Given the description of an element on the screen output the (x, y) to click on. 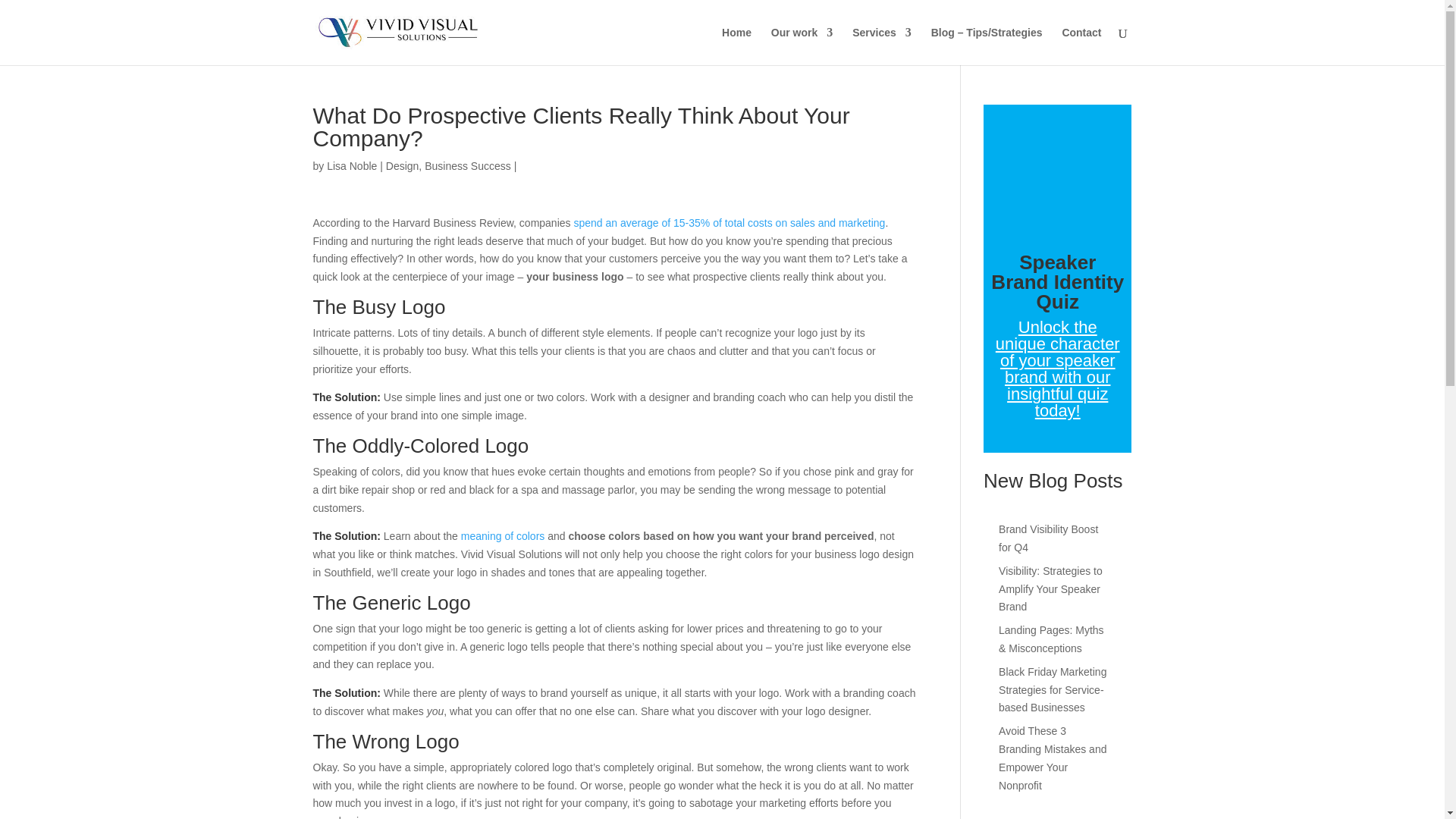
Services (881, 46)
Contact (1080, 46)
Avoid These 3 Branding Mistakes and Empower Your Nonprofit (1052, 757)
Our work (801, 46)
meaning of colors (502, 535)
Design (402, 165)
Brand Visibility Boost for Q4 (1047, 538)
Posts by Lisa Noble (351, 165)
The Brand Strategy Blog (986, 46)
